Given the description of an element on the screen output the (x, y) to click on. 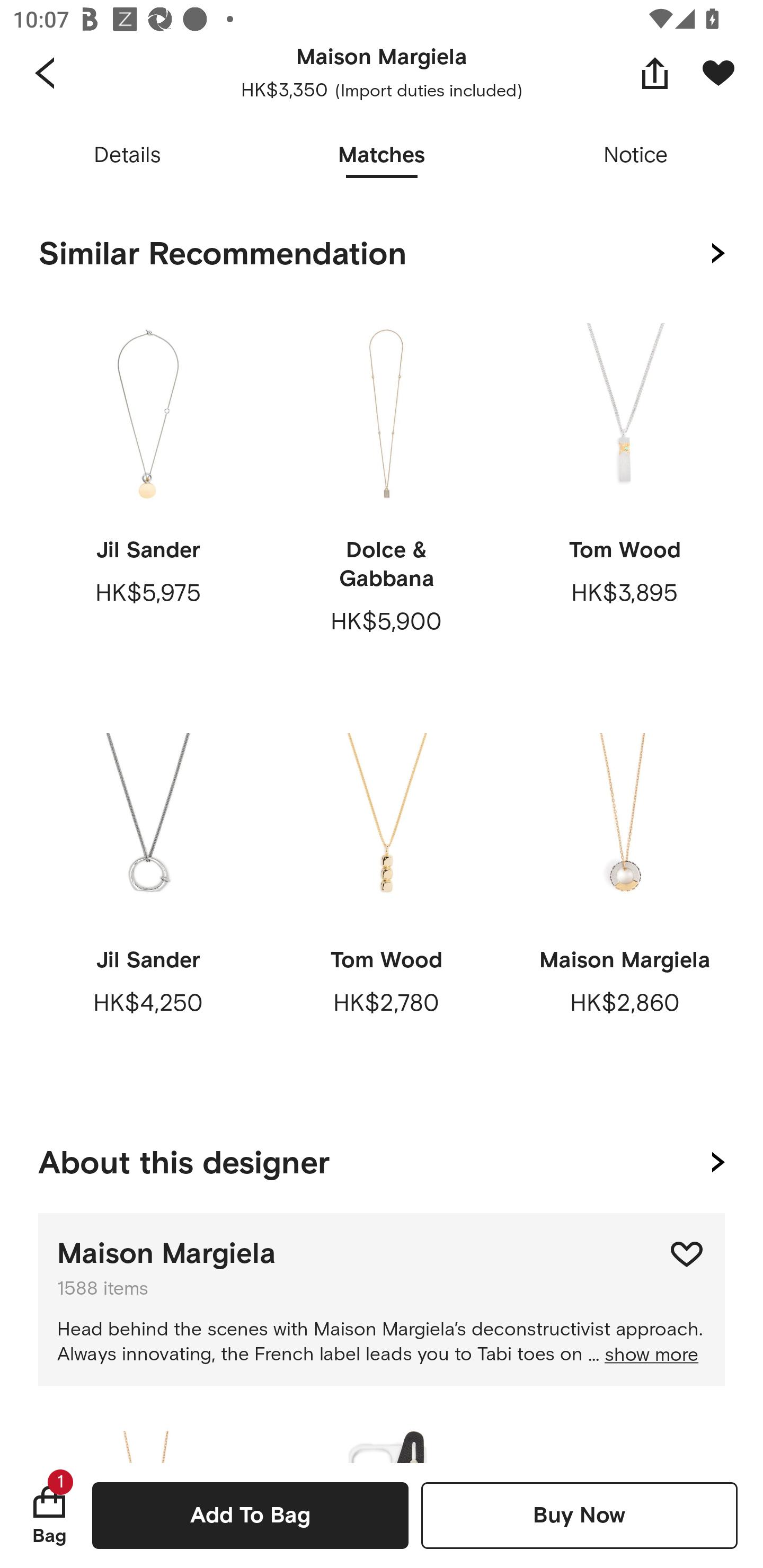
 Check Model Info and Size Guide (381, 157)
Similar Recommendation (381, 253)
Jil Sander HK$5,975 (147, 499)
Dolce & Gabbana HK$5,900 (385, 499)
Tom Wood HK$3,895 (624, 499)
Jil Sander HK$4,250 (147, 909)
Tom Wood HK$2,780 (385, 909)
Maison Margiela HK$2,860 (624, 909)
About this designer (381, 1159)
... show more (643, 1354)
Bag 1 (49, 1515)
Add To Bag (250, 1515)
Buy Now (579, 1515)
